Given the description of an element on the screen output the (x, y) to click on. 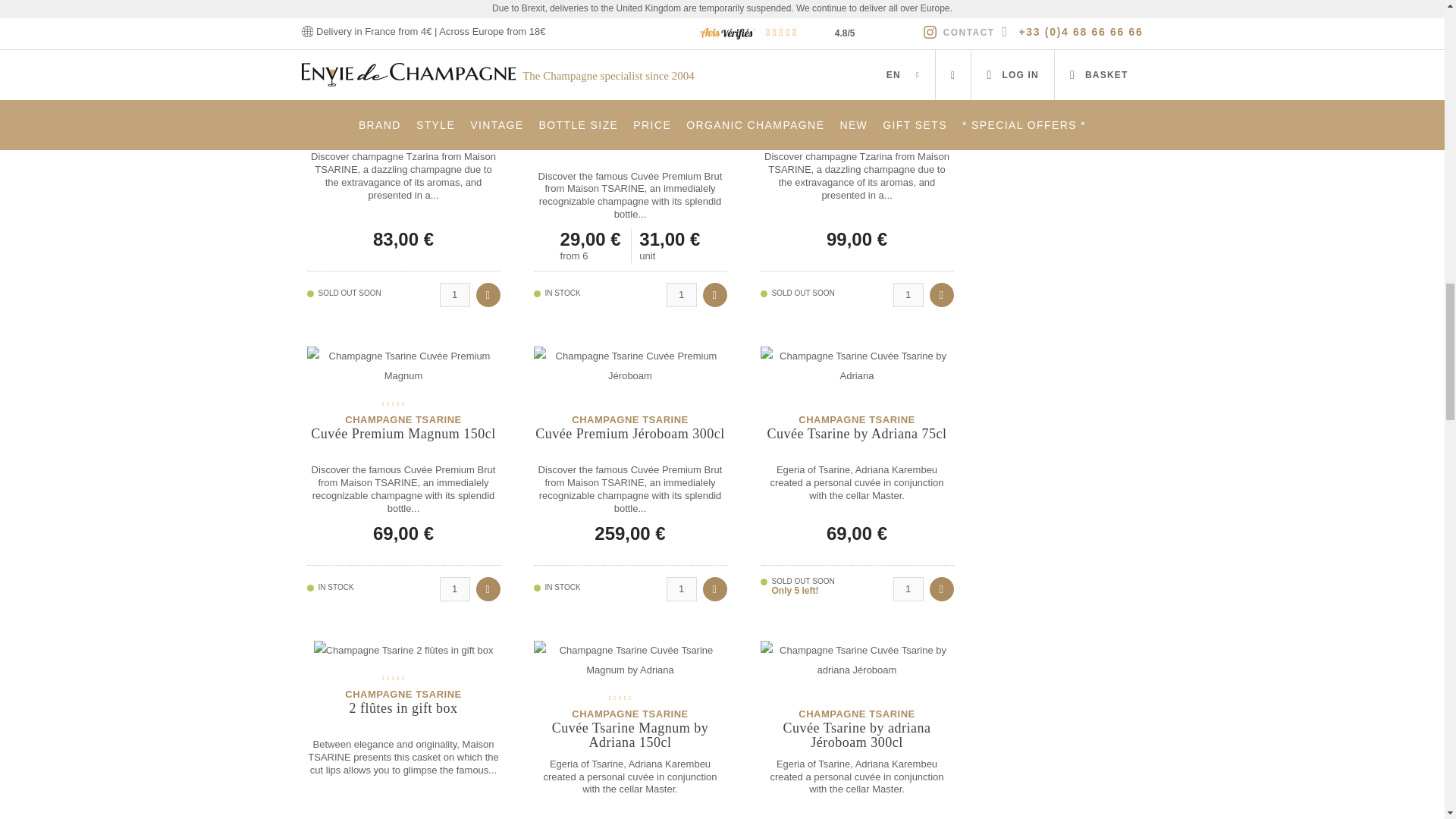
1 (908, 294)
1 (908, 589)
1 (454, 589)
1 (680, 294)
1 (908, 6)
1 (680, 6)
1 (454, 294)
1 (680, 589)
